Given the description of an element on the screen output the (x, y) to click on. 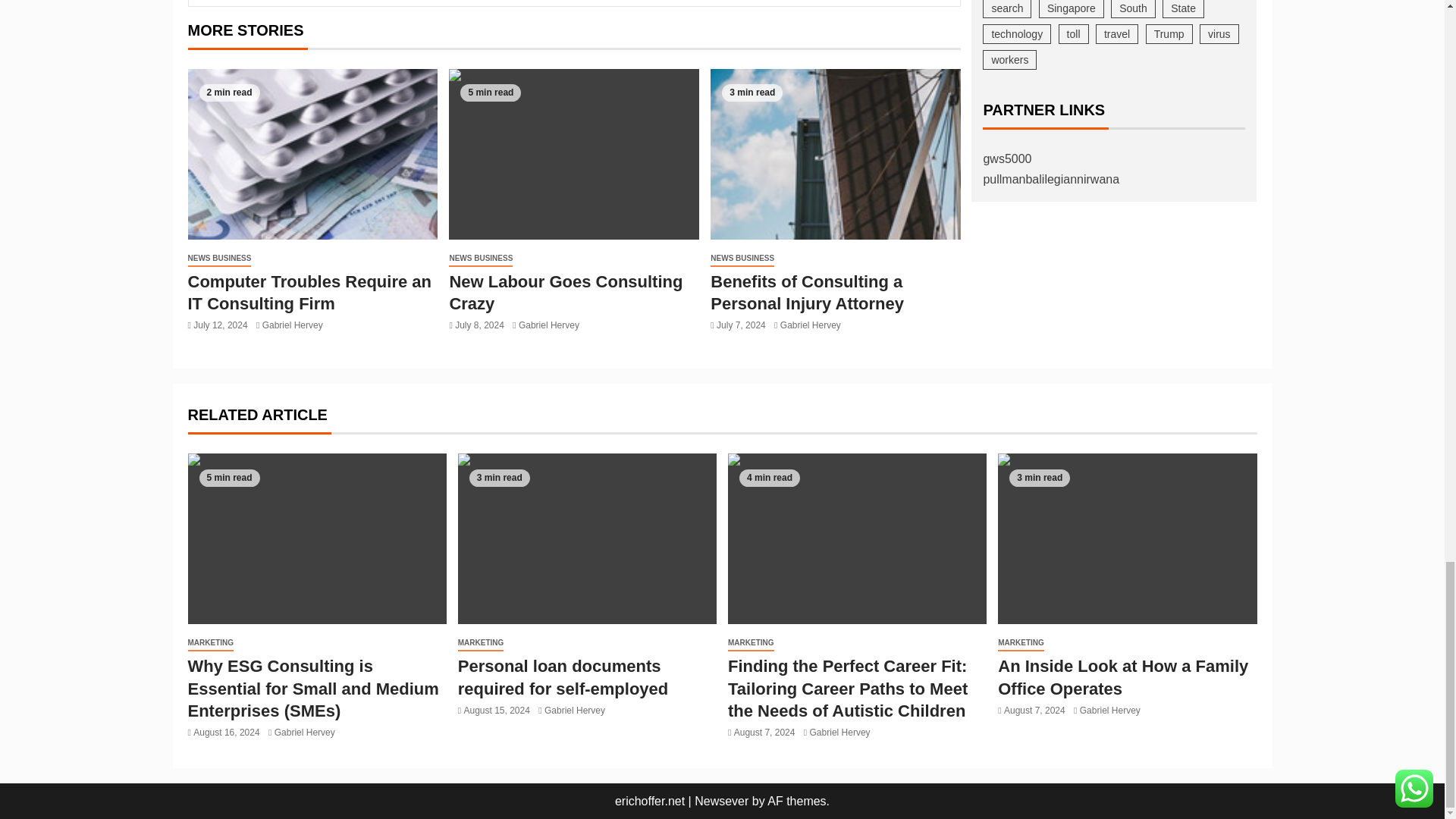
Benefits of Consulting a Personal Injury Attorney (835, 153)
New Labour Goes Consulting Crazy (573, 153)
Computer Troubles Require an IT Consulting Firm (312, 153)
